Given the description of an element on the screen output the (x, y) to click on. 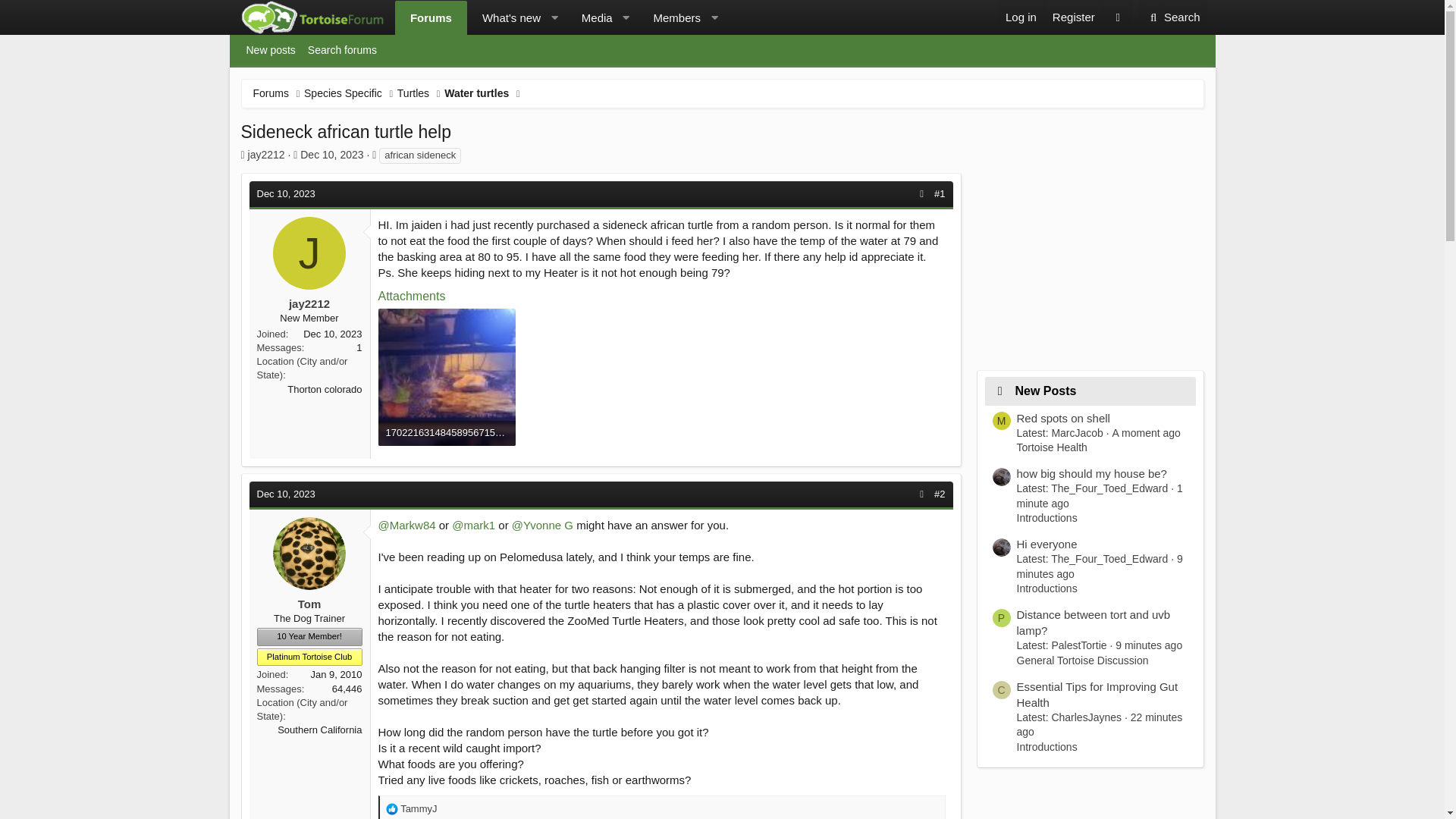
Dec 10, 2023 at 5:52 AM (285, 193)
Search forums (341, 50)
Dec 10, 2023 at 6:29 AM (285, 493)
Like (391, 808)
Forums (430, 17)
Forums (721, 50)
Media (270, 93)
Log in (590, 17)
Register (1020, 17)
What's new (1072, 17)
Search (505, 17)
Members (1173, 17)
New posts (560, 17)
